Given the description of an element on the screen output the (x, y) to click on. 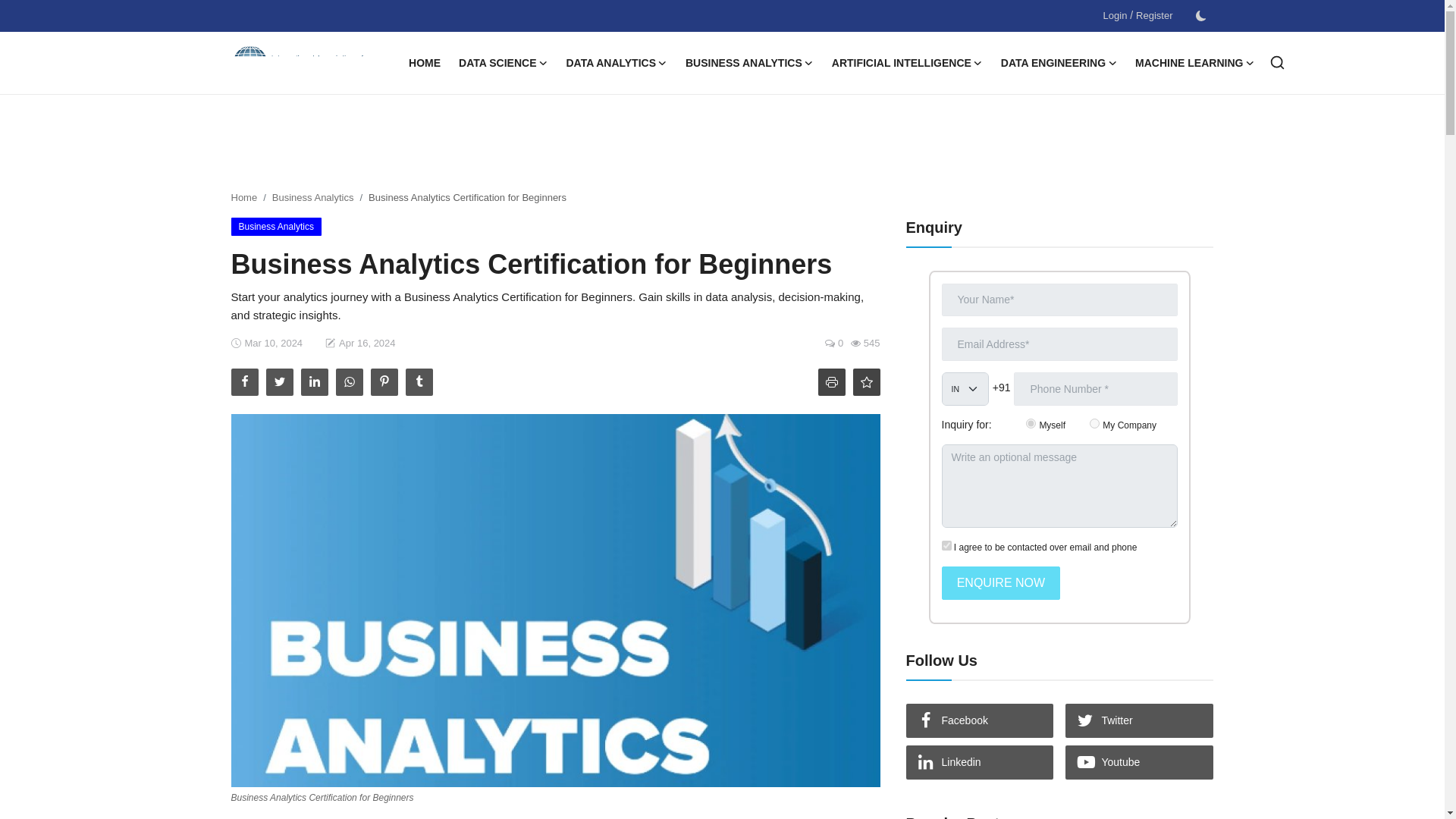
myself (1030, 423)
MACHINE LEARNING (1194, 62)
BUSINESS ANALYTICS (749, 62)
dark (1200, 15)
DATA ANALYTICS (615, 62)
Register (1153, 15)
on (947, 545)
Login (1114, 15)
DATA SCIENCE (502, 62)
Add to Reading List (865, 381)
company (1094, 423)
ARTIFICIAL INTELLIGENCE (906, 62)
DATA ENGINEERING (1058, 62)
